Given the description of an element on the screen output the (x, y) to click on. 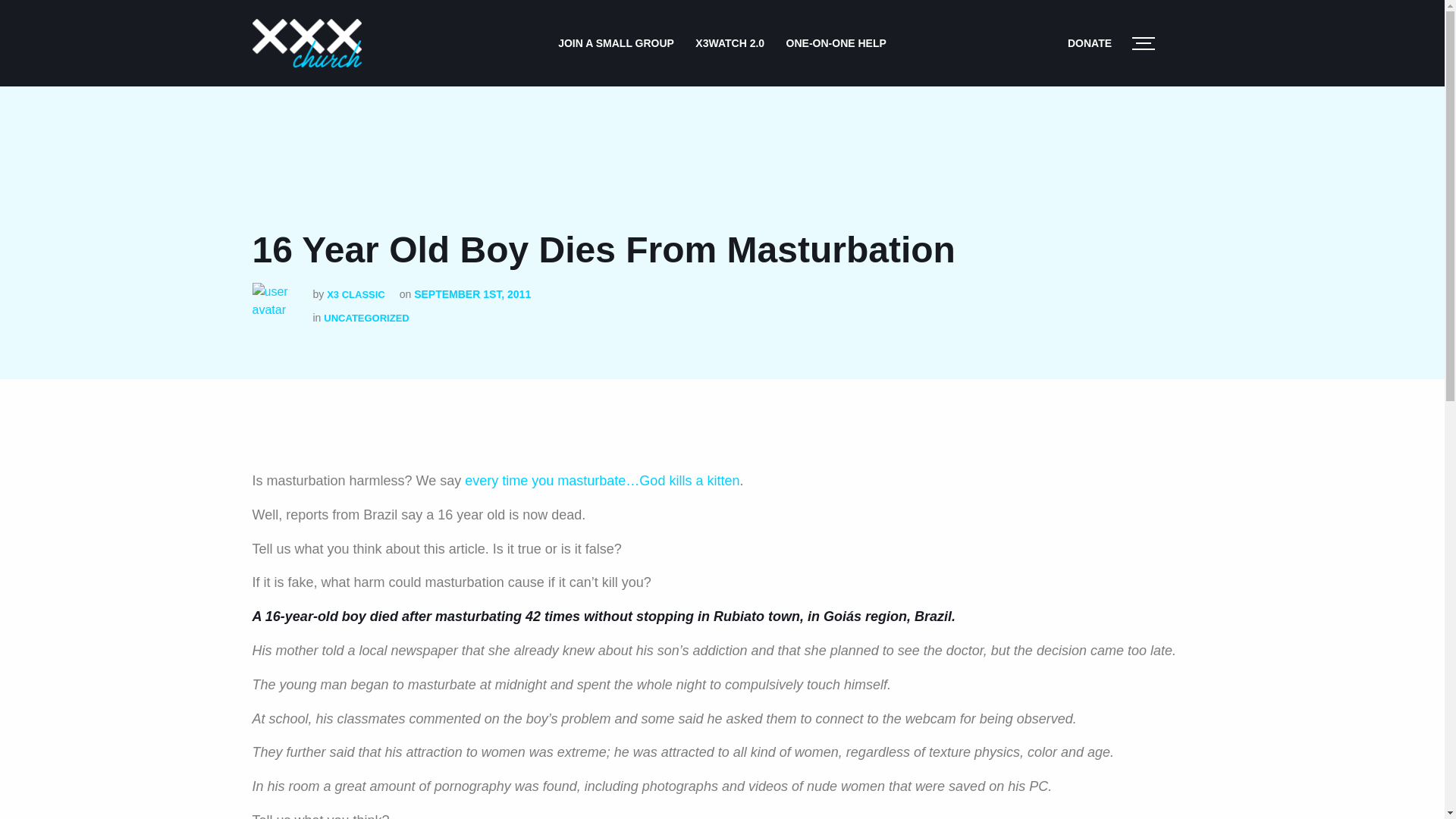
JOIN A SMALL GROUP (615, 43)
X3WATCH 2.0 (729, 43)
ONE-ON-ONE HELP (836, 43)
DONATE (1089, 43)
